Given the description of an element on the screen output the (x, y) to click on. 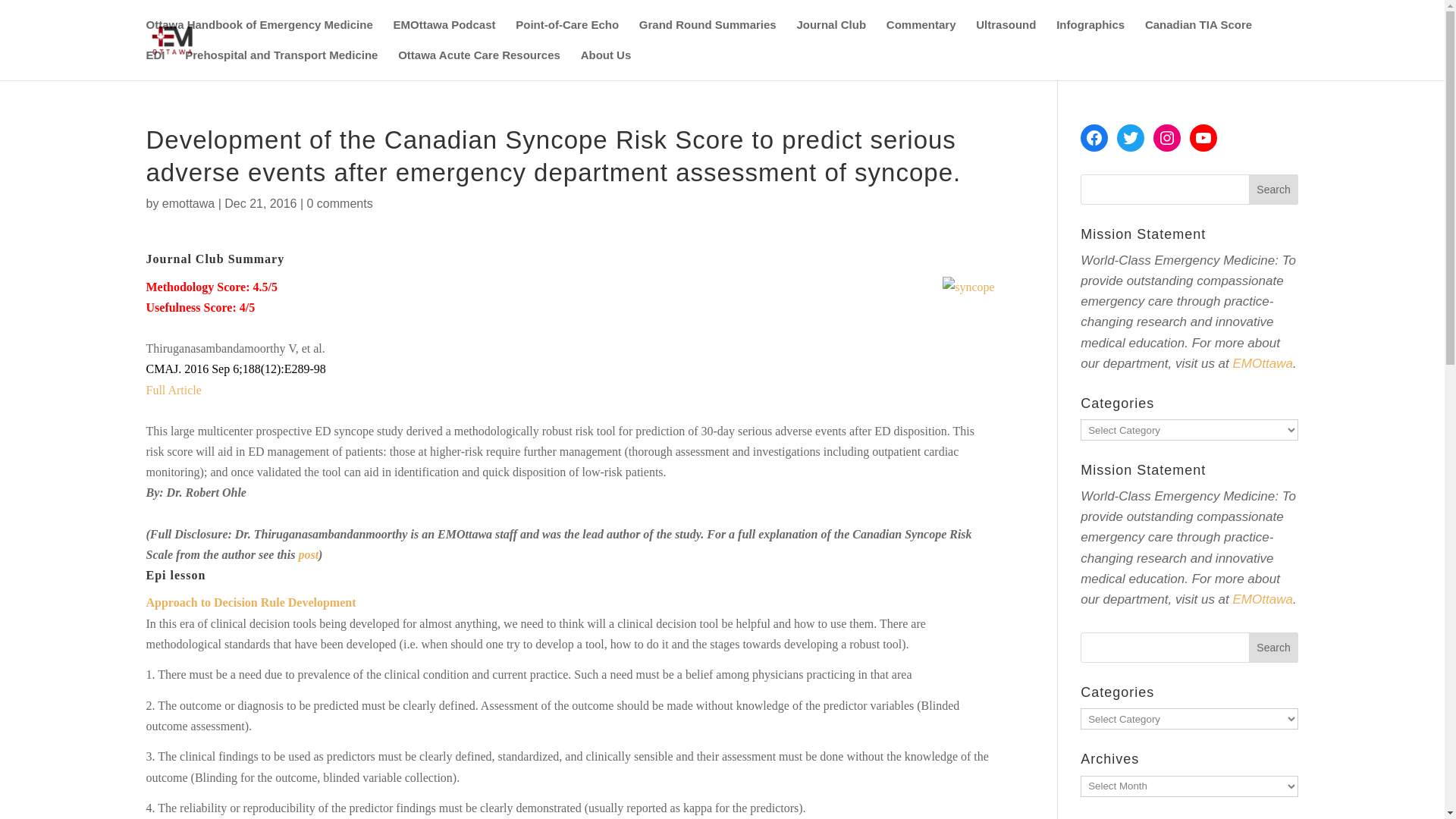
Twitter (1130, 137)
Full Article (172, 390)
Instagram (1166, 137)
post (308, 554)
Ultrasound (1005, 34)
Ottawa Acute Care Resources (478, 64)
Facebook (1094, 137)
Canadian TIA Score (1198, 34)
Search (1273, 189)
EMOttawa Podcast (444, 34)
